Given the description of an element on the screen output the (x, y) to click on. 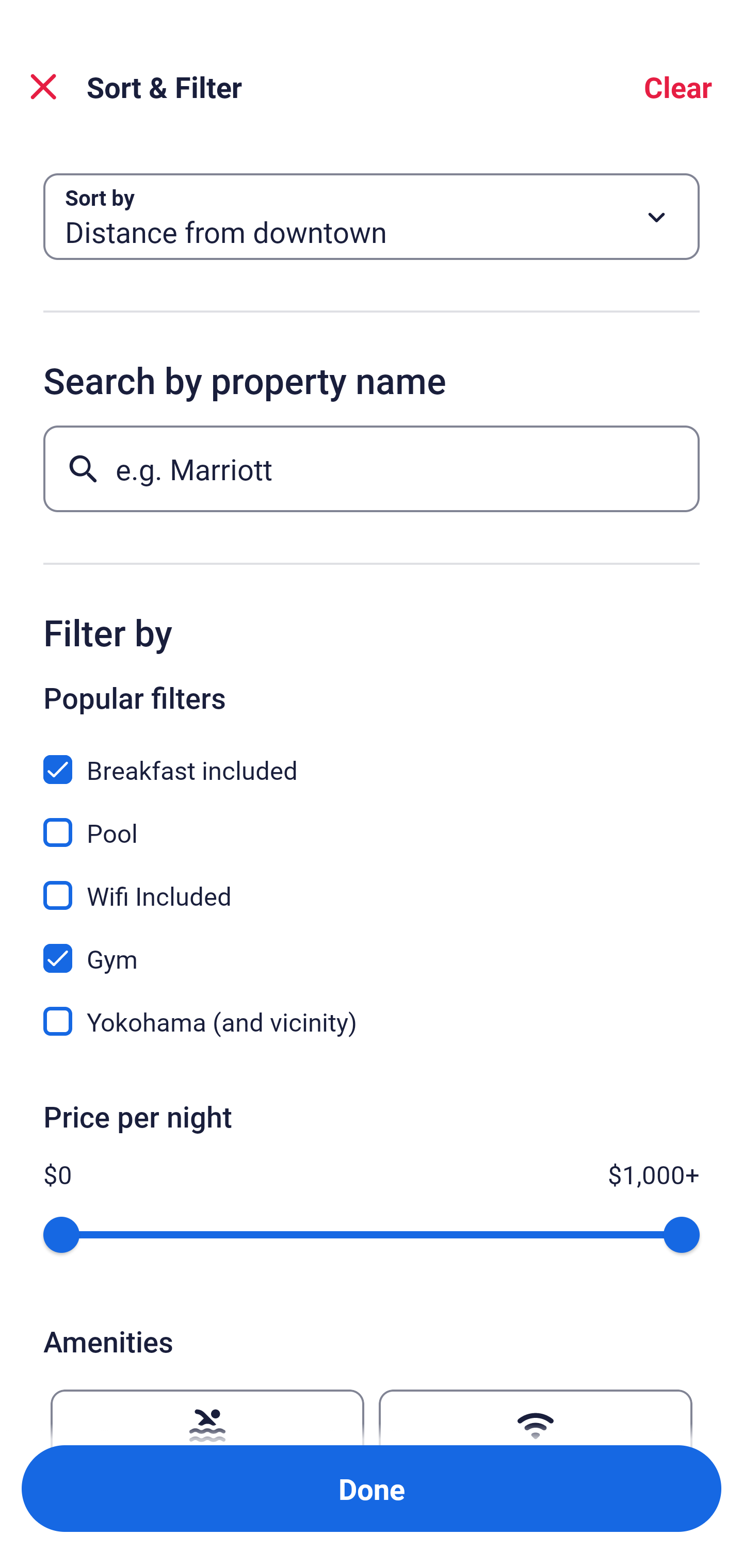
Close Sort and Filter (43, 86)
Clear (677, 86)
Sort by Button Distance from downtown (371, 217)
e.g. Marriott Button (371, 468)
Breakfast included, Breakfast included (371, 757)
Pool, Pool (371, 821)
Wifi Included, Wifi Included (371, 883)
Gym, Gym (371, 946)
Yokohama (and vicinity), Yokohama (and vicinity) (371, 1021)
Apply and close Sort and Filter Done (371, 1488)
